Given the description of an element on the screen output the (x, y) to click on. 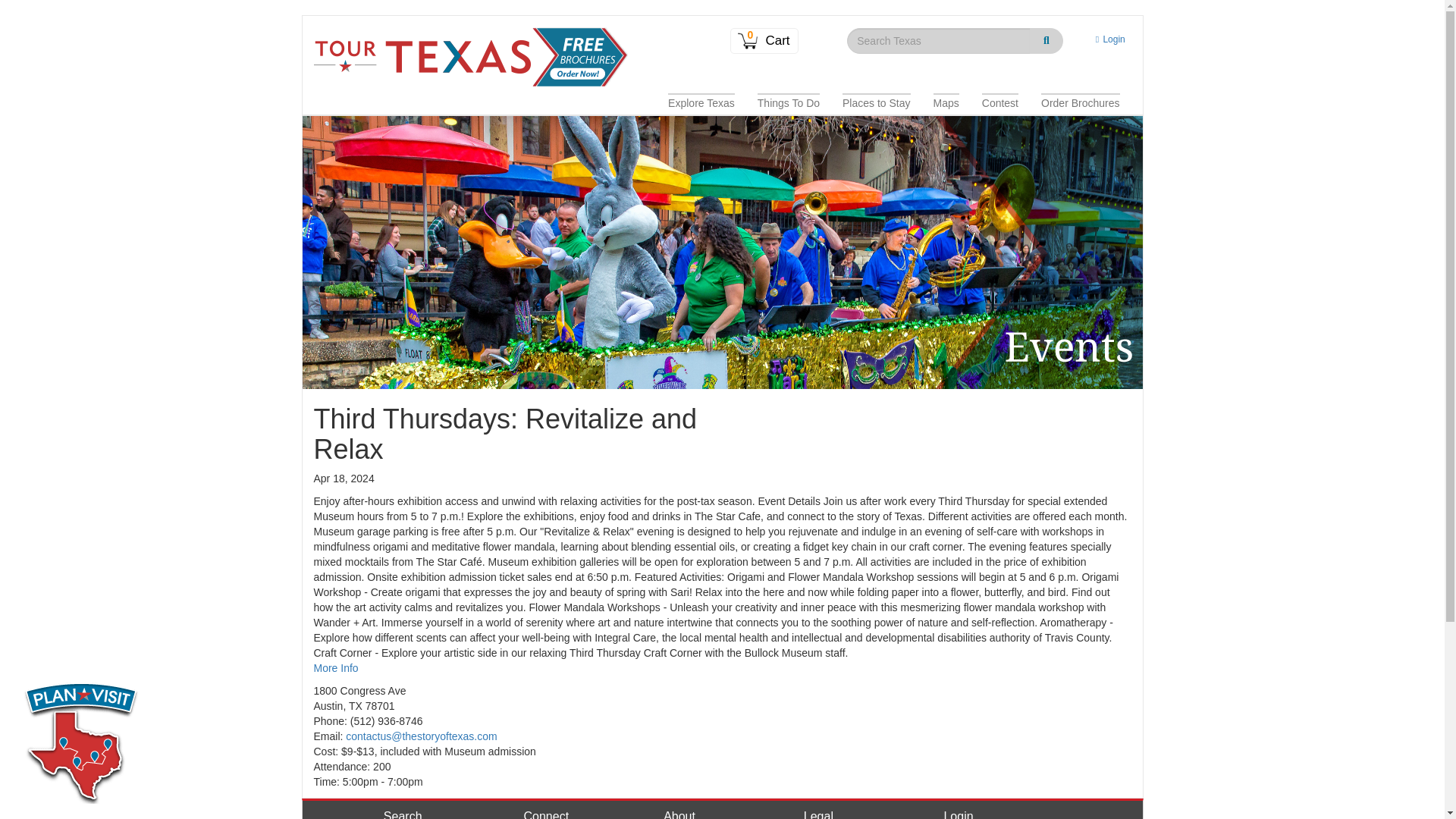
Things To Do (788, 102)
Places to Stay (876, 102)
Maps (946, 102)
Login (1107, 39)
Explore Texas (700, 102)
